Given the description of an element on the screen output the (x, y) to click on. 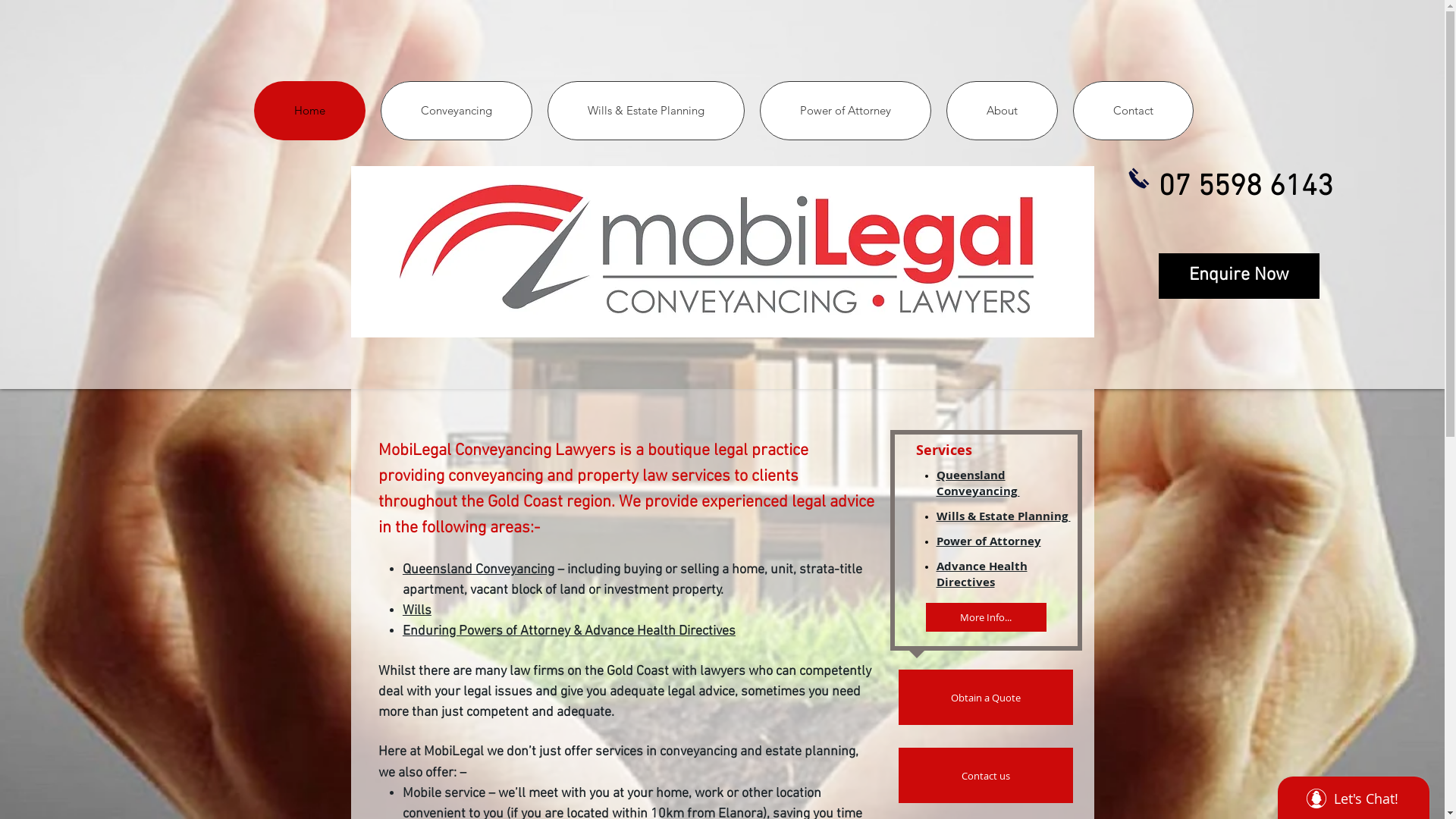
Queensland Conveyancing Element type: text (478, 569)
Queensland Conveyancing  Element type: text (977, 482)
Home Element type: text (308, 110)
Wills Element type: text (416, 608)
About Element type: text (1001, 110)
Wills & Estate Planning  Element type: text (1002, 516)
Conveyancing Element type: text (456, 110)
Enduring Powers of Attorney & Advance Health Directives Element type: text (568, 629)
Wills & Estate Planning Element type: text (645, 110)
Obtain a Quote Element type: text (984, 696)
More Info... Element type: text (985, 616)
Advance Health Directives Element type: text (980, 573)
Power of Attorney Element type: text (987, 540)
Contact Element type: text (1132, 110)
Enquire Now Element type: text (1238, 275)
07 5598 6143 Element type: text (1245, 183)
Power of Attorney Element type: text (845, 110)
Contact us Element type: text (984, 775)
